Given the description of an element on the screen output the (x, y) to click on. 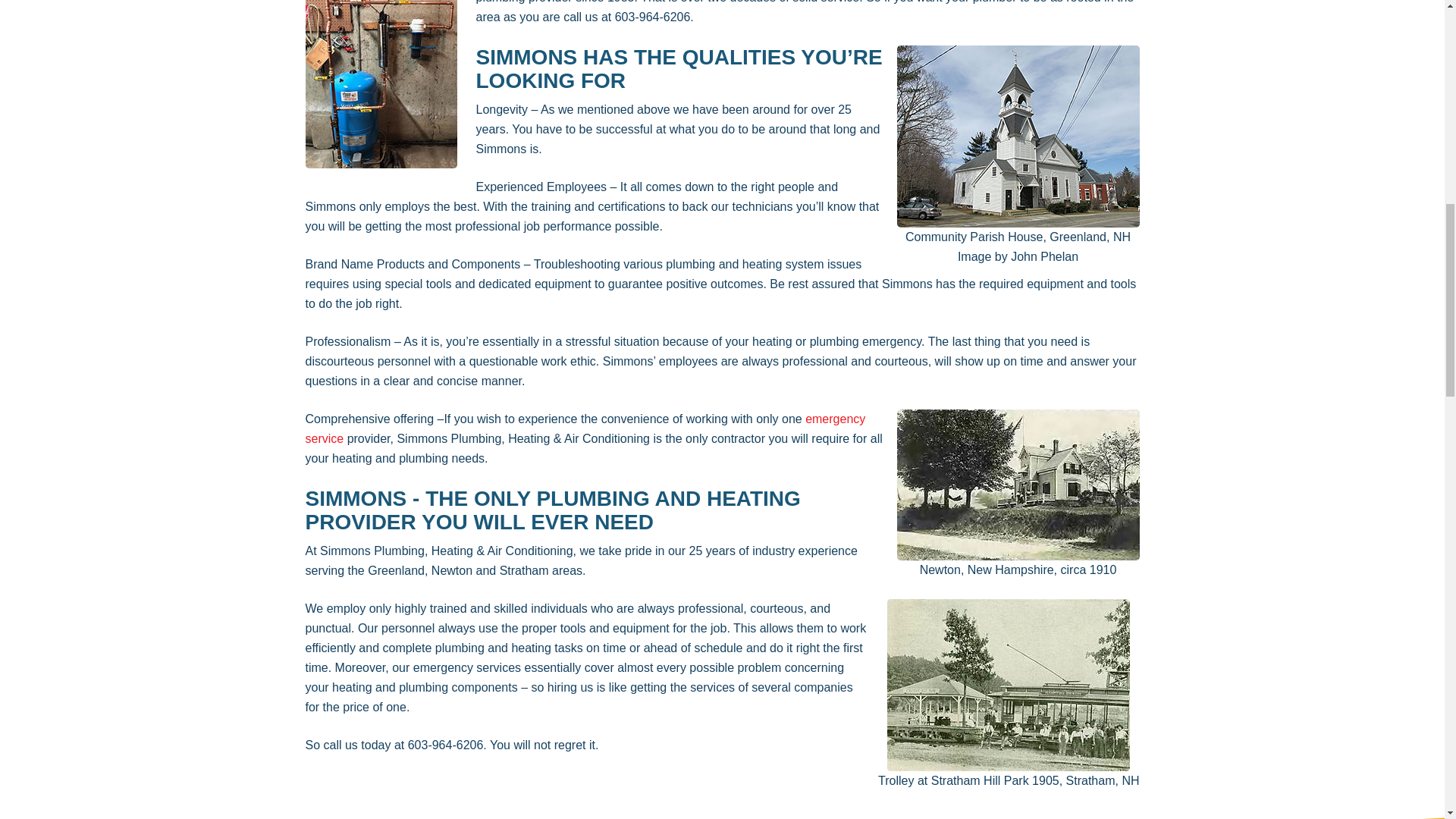
Newton, New Hampshire, circa 1910 (1017, 484)
Trolley at Stratham Hill Park 1905, Stratham, New Hampshire (1007, 684)
Plumbing HVAC Greenland, NH (380, 84)
Community Parish House, Greenland, NH (1017, 136)
